Given the description of an element on the screen output the (x, y) to click on. 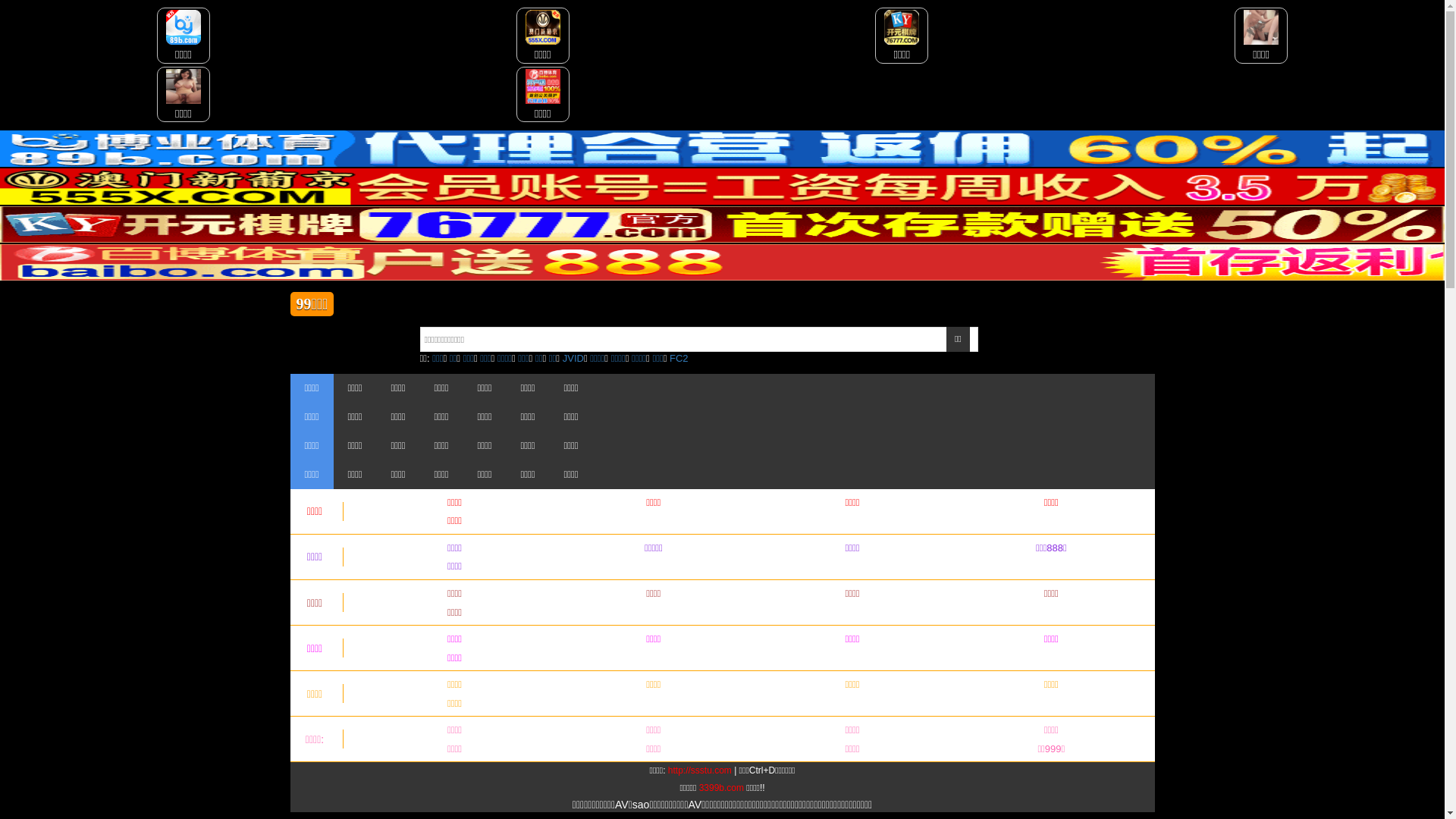
FC2 Element type: text (678, 358)
JVID Element type: text (572, 358)
